Given the description of an element on the screen output the (x, y) to click on. 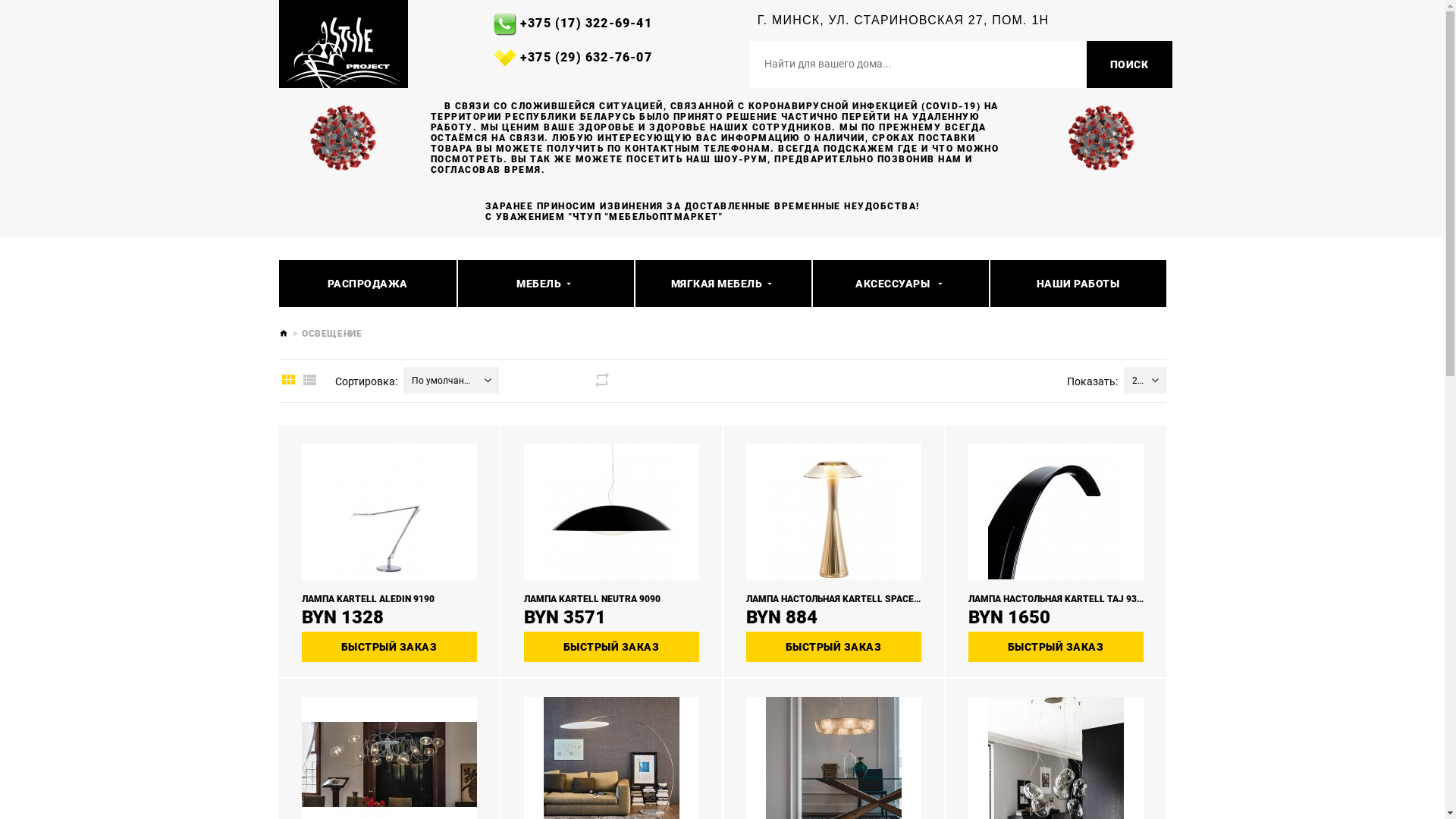
200 Element type: text (1132, 380)
